Given the description of an element on the screen output the (x, y) to click on. 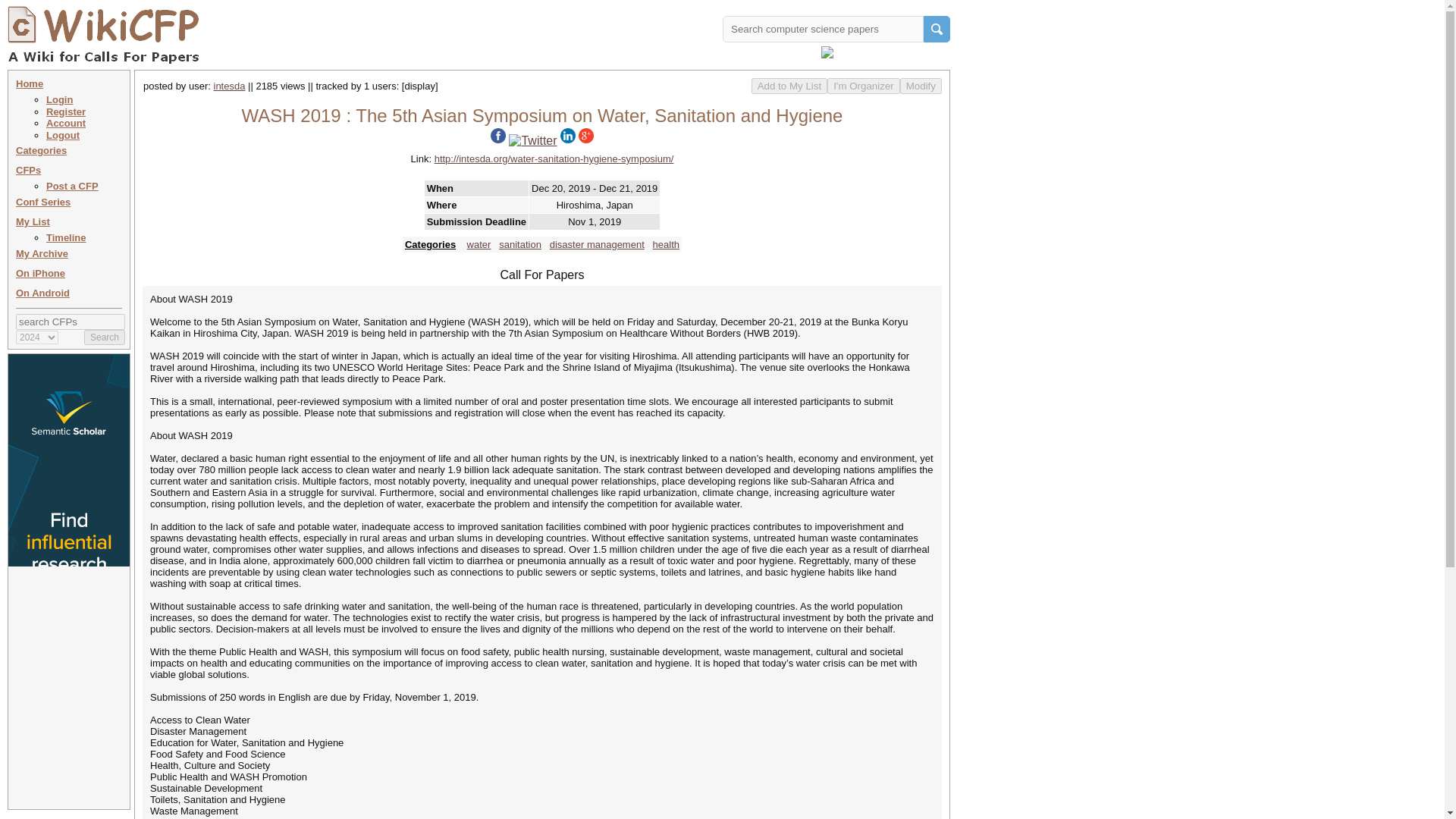
CFPs (28, 170)
Add to My List (789, 85)
Register (65, 111)
Home (29, 83)
I'm Organizer (863, 85)
Search (104, 337)
Timeline (65, 237)
display (418, 85)
Modify (920, 85)
On iPhone (40, 273)
